Given the description of an element on the screen output the (x, y) to click on. 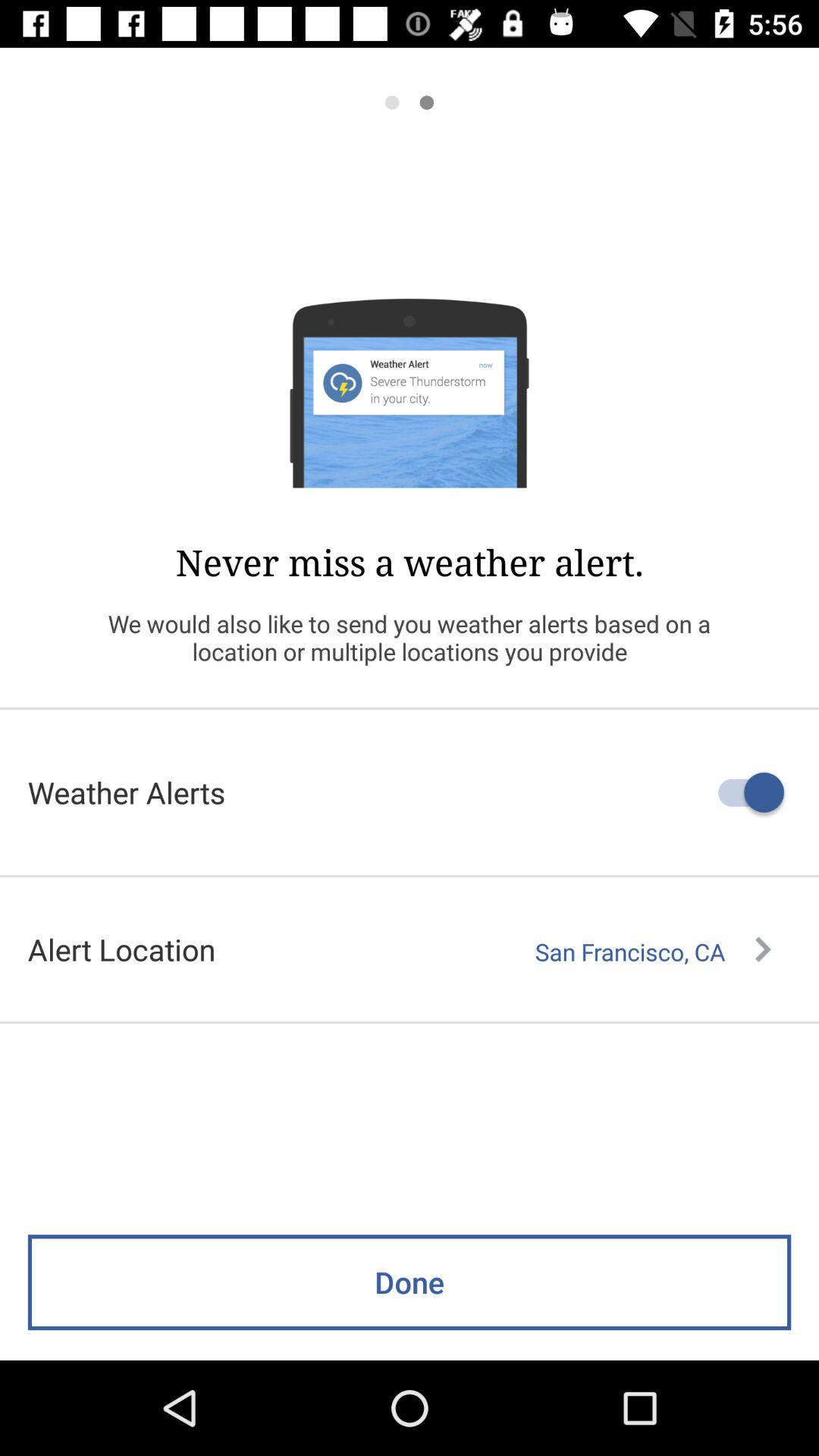
launch the done (409, 1282)
